Given the description of an element on the screen output the (x, y) to click on. 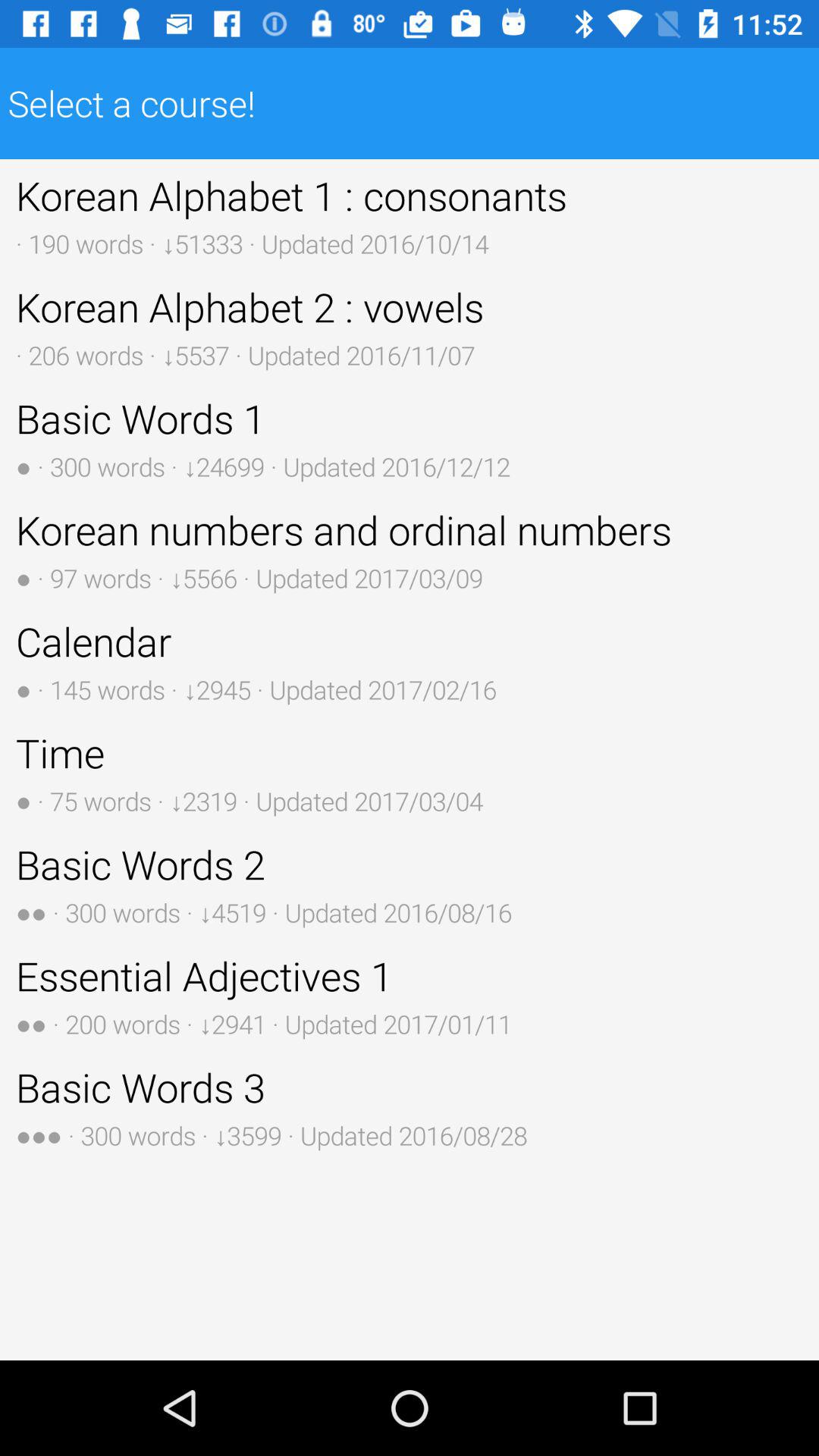
choose icon below the basic words 1 (409, 549)
